Given the description of an element on the screen output the (x, y) to click on. 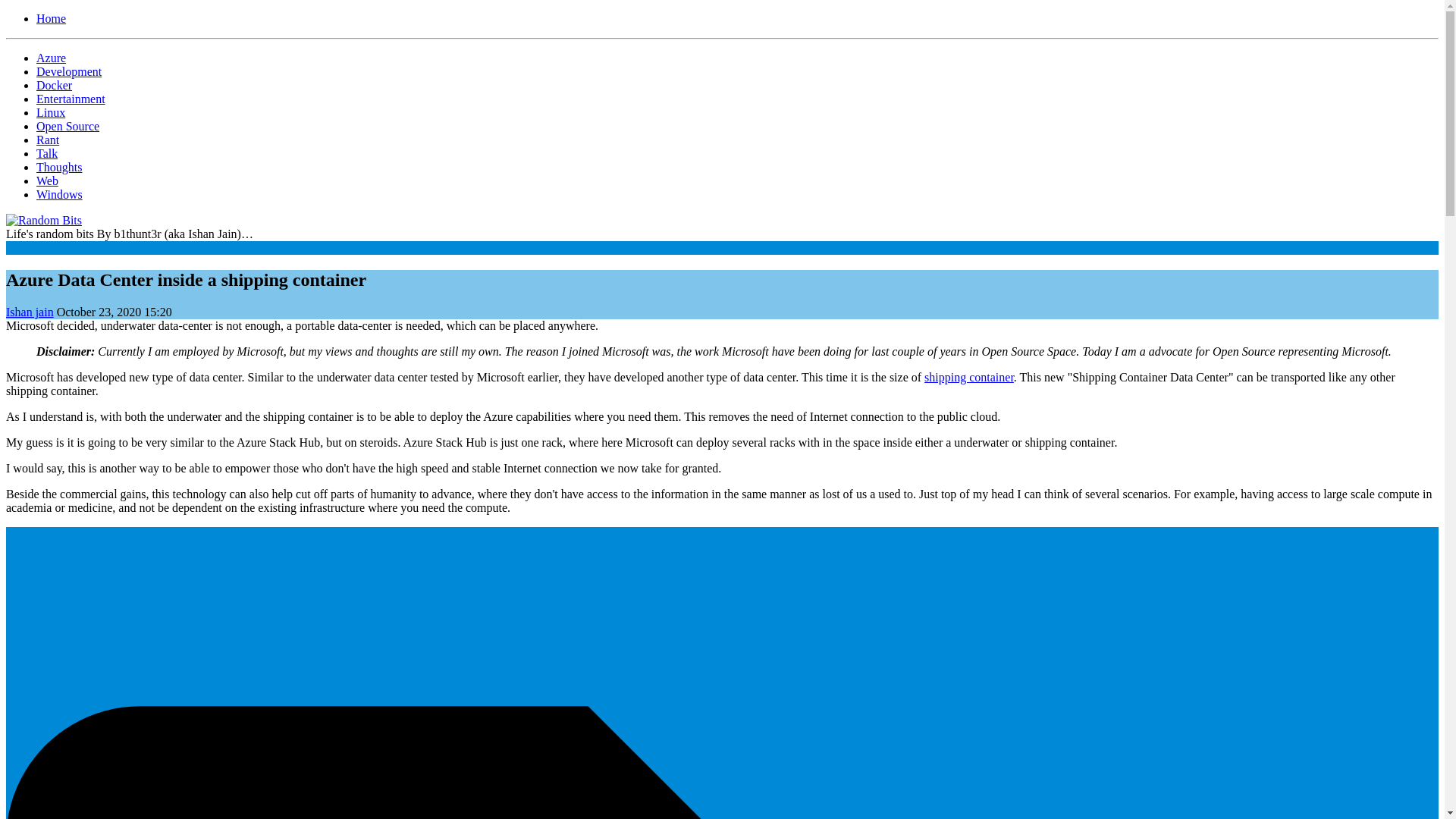
Development (68, 71)
b1thunt3r (29, 311)
Entertainment (70, 98)
Docker (53, 84)
Web (47, 180)
shipping container (968, 377)
Windows (59, 194)
Thoughts (58, 166)
Talk (47, 153)
Linux (50, 112)
Open Source (67, 125)
Ishan jain (29, 311)
Azure (50, 57)
Rant (47, 139)
Home (50, 18)
